Given the description of an element on the screen output the (x, y) to click on. 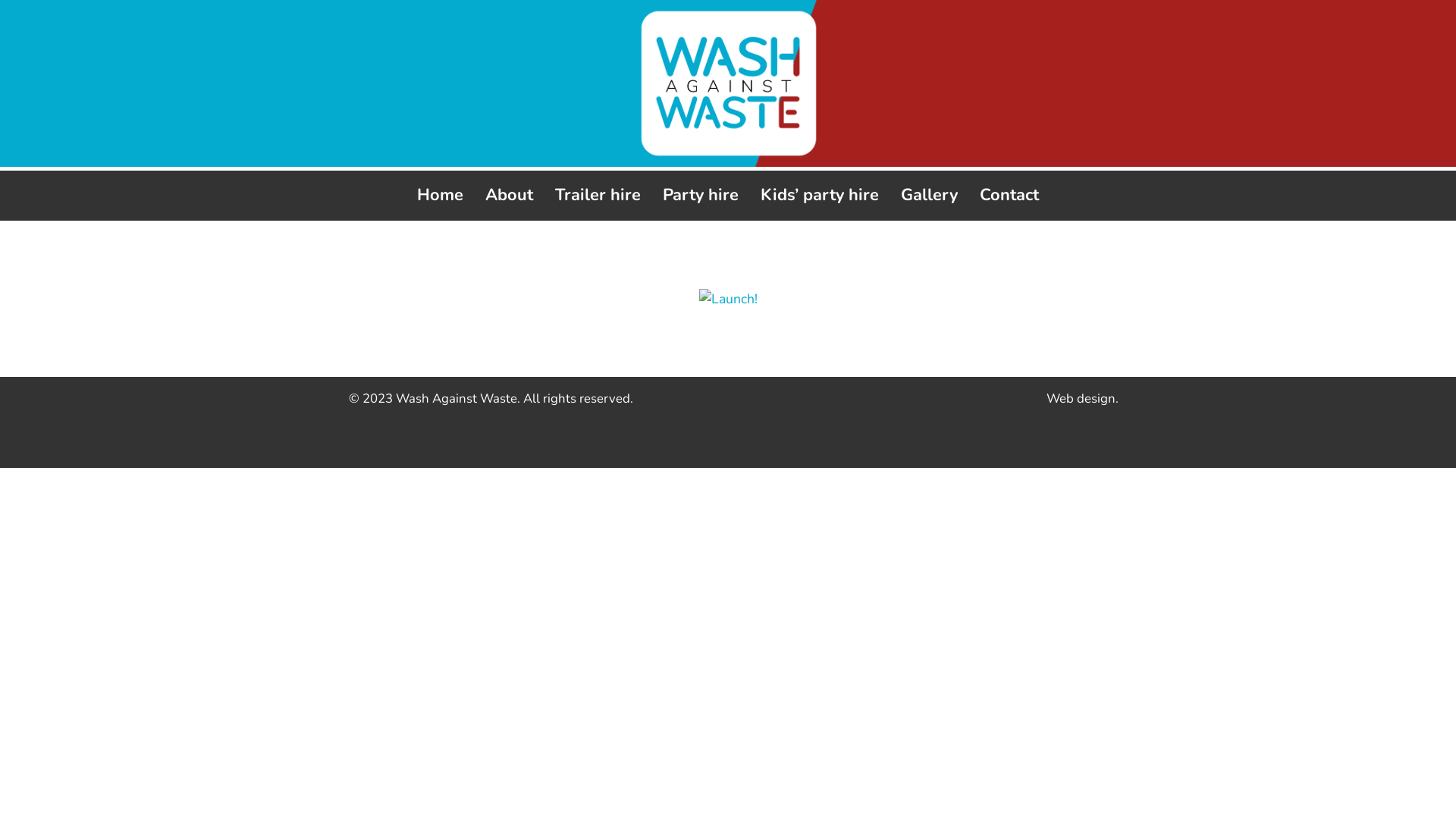
Gallery Element type: text (928, 195)
Party hire Element type: text (700, 195)
Trailer hire Element type: text (597, 195)
Home Element type: text (440, 195)
Contact Element type: text (1008, 195)
Wash Against Waste Element type: text (456, 398)
About Element type: text (509, 195)
Web design. Element type: text (1082, 398)
